Given the description of an element on the screen output the (x, y) to click on. 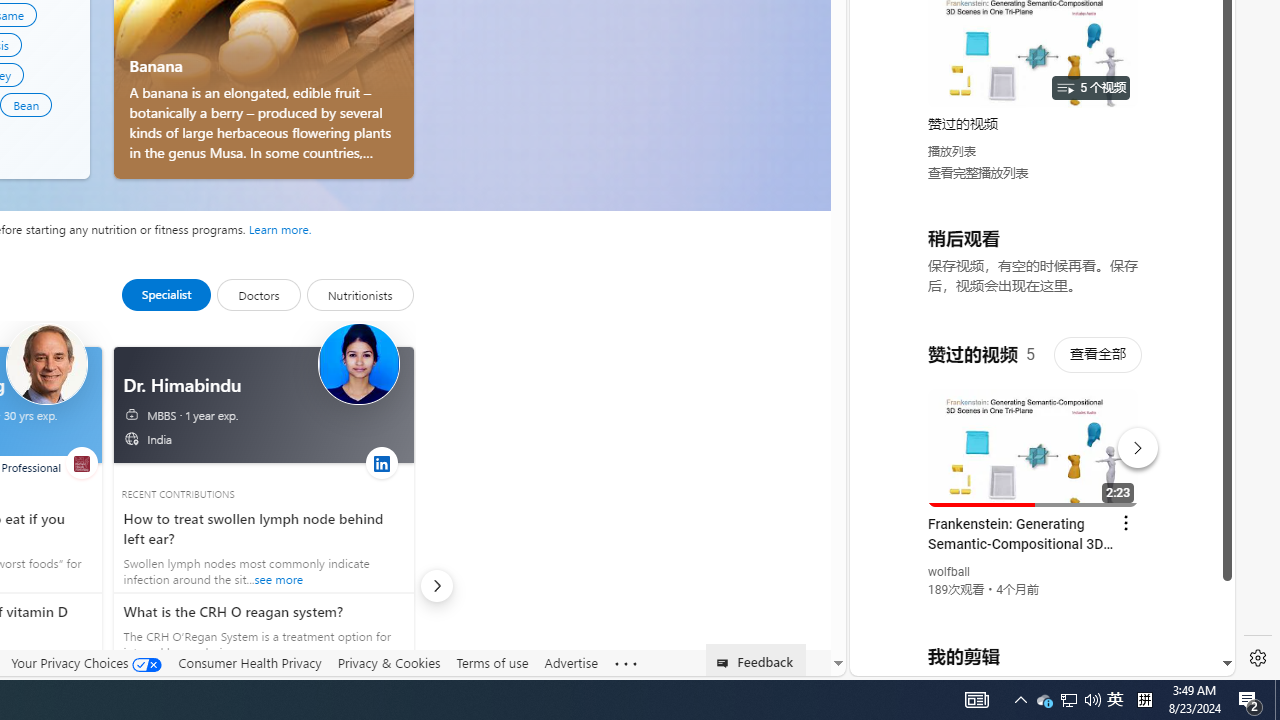
Your Privacy Choices (86, 662)
YouTube (1034, 432)
Privacy & Cookies (388, 662)
